Given the description of an element on the screen output the (x, y) to click on. 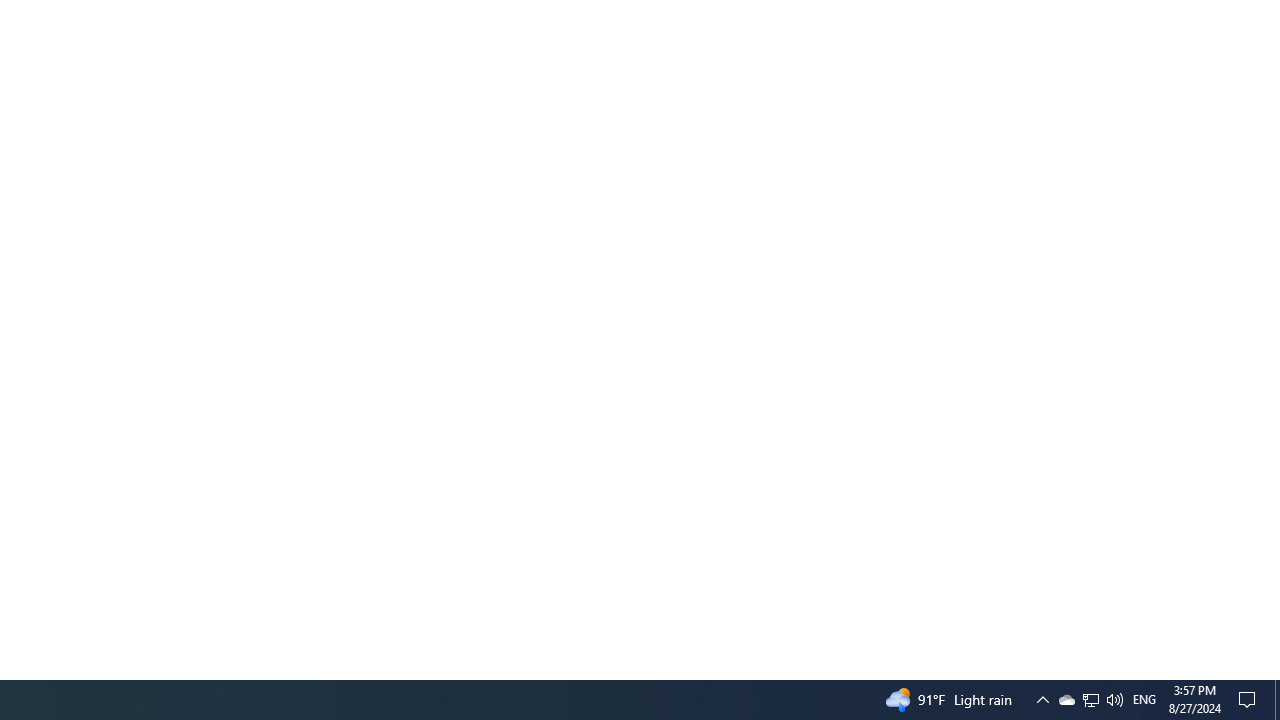
Notification Chevron (1042, 699)
Action Center, No new notifications (1091, 699)
Q2790: 100% (1250, 699)
User Promoted Notification Area (1114, 699)
Show desktop (1066, 699)
Tray Input Indicator - English (United States) (1090, 699)
